Given the description of an element on the screen output the (x, y) to click on. 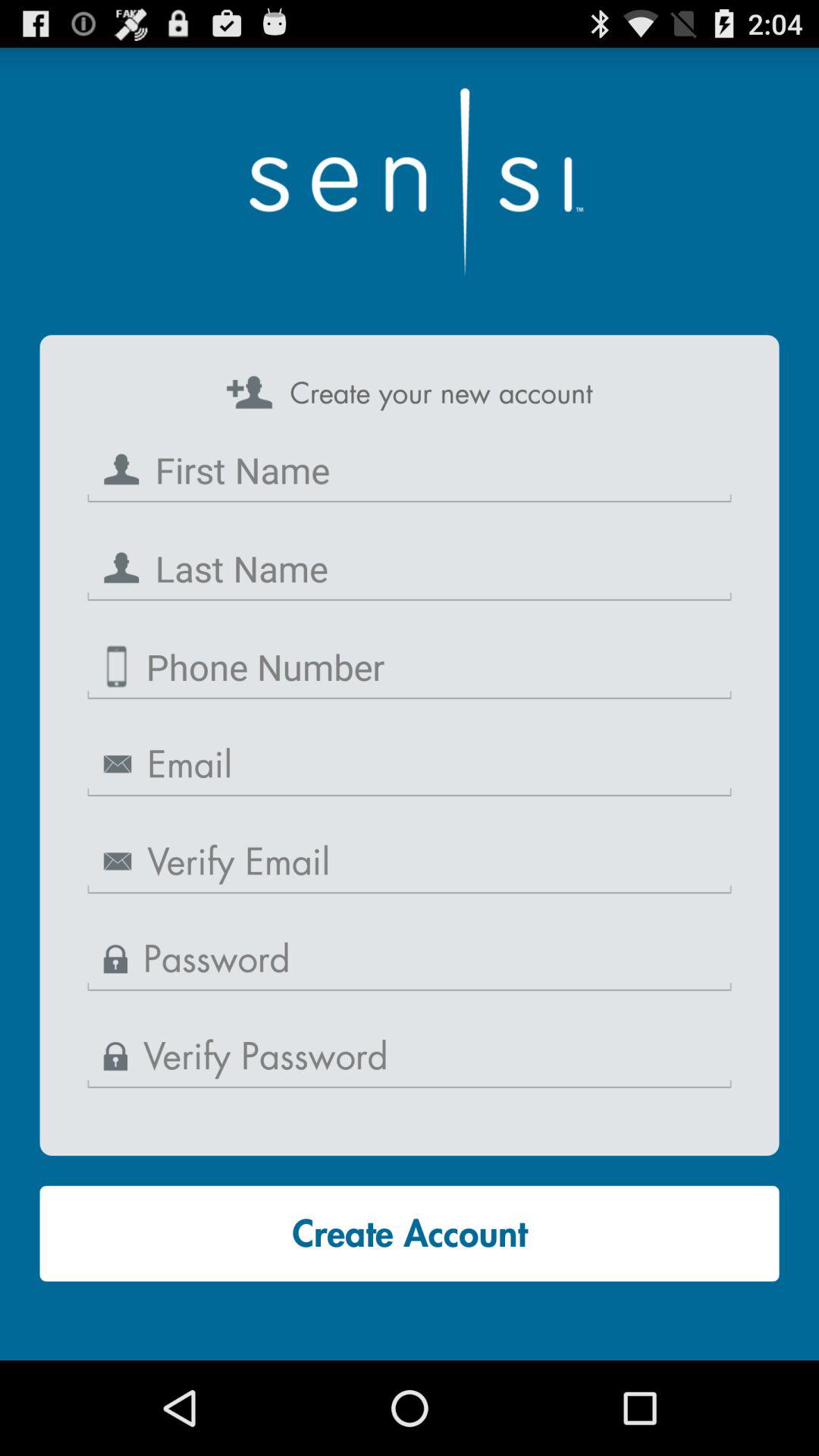
go to password (409, 1056)
